Given the description of an element on the screen output the (x, y) to click on. 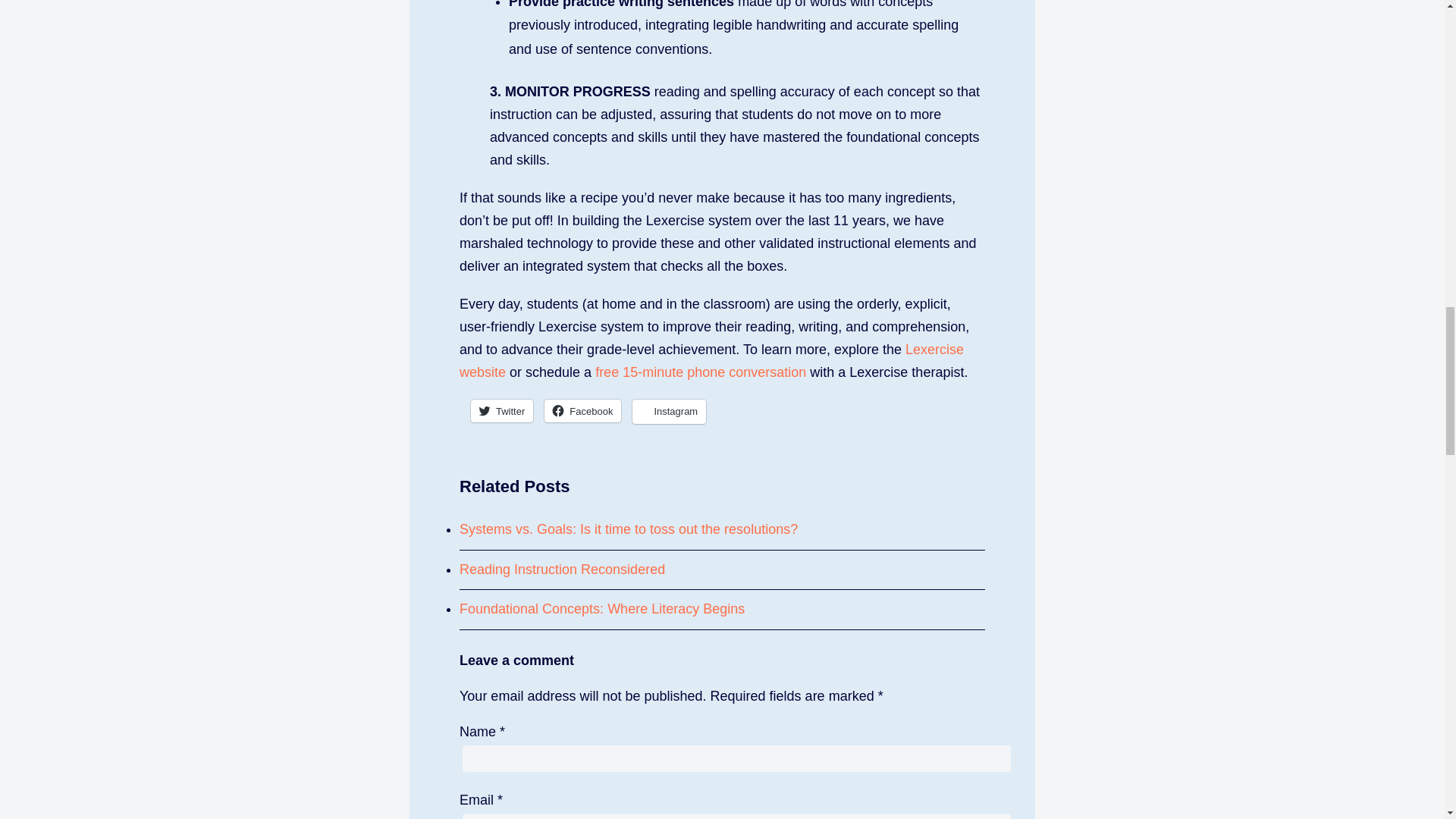
Click to share on Twitter (501, 410)
Click to share on Instagram (668, 411)
Click to share on Facebook (582, 410)
